Given the description of an element on the screen output the (x, y) to click on. 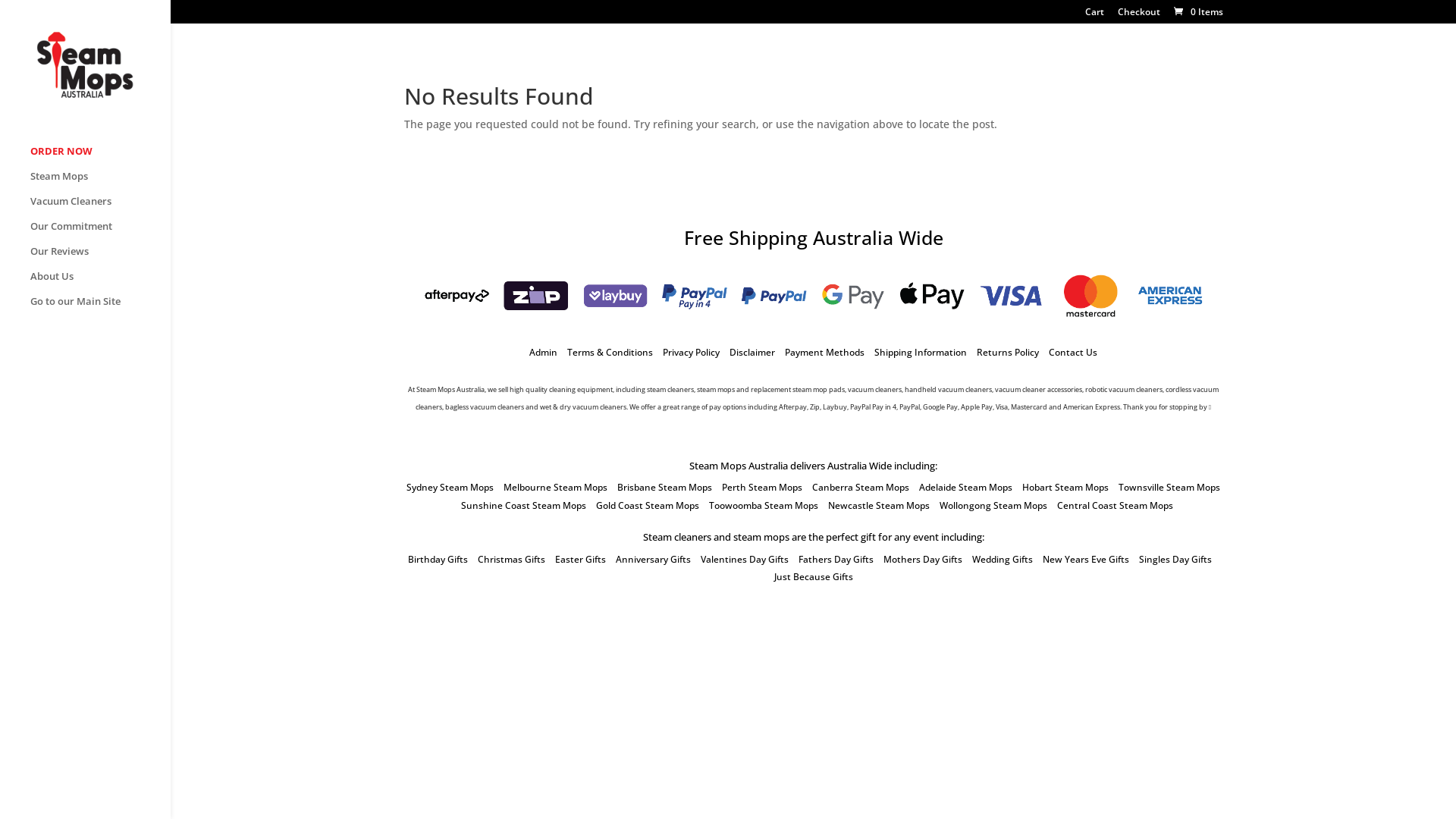
Gold Coast Steam Mops Element type: text (647, 504)
Admin Element type: text (543, 351)
Wedding Gifts Element type: text (1002, 558)
Townsville Steam Mops Element type: text (1169, 486)
Christmas Gifts Element type: text (511, 558)
Our Commitment Element type: text (100, 232)
Shipping Information Element type: text (920, 351)
Steam Mops Element type: text (100, 182)
Payment Methods Element type: text (824, 351)
Canberra Steam Mops Element type: text (860, 486)
About Us Element type: text (100, 282)
Our Reviews Element type: text (100, 257)
Birthday Gifts Element type: text (437, 558)
Wollongong Steam Mops Element type: text (993, 504)
Melbourne Steam Mops Element type: text (555, 486)
Perth Steam Mops Element type: text (761, 486)
Adelaide Steam Mops Element type: text (965, 486)
Returns Policy Element type: text (1007, 351)
Brisbane Steam Mops Element type: text (664, 486)
Sunshine Coast Steam Mops Element type: text (523, 504)
Toowoomba Steam Mops Element type: text (763, 504)
Newcastle Steam Mops Element type: text (878, 504)
Terms & Conditions Element type: text (609, 351)
Disclaimer Element type: text (752, 351)
Valentines Day Gifts Element type: text (744, 558)
Privacy Policy Element type: text (690, 351)
Anniversary Gifts Element type: text (652, 558)
Contact Us Element type: text (1072, 351)
ORDER NOW Element type: text (100, 157)
Checkout Element type: text (1138, 15)
Just Because Gifts Element type: text (812, 576)
Vacuum Cleaners Element type: text (100, 207)
0 Items Element type: text (1196, 11)
Central Coast Steam Mops Element type: text (1115, 504)
Easter Gifts Element type: text (580, 558)
Fathers Day Gifts Element type: text (834, 558)
Singles Day Gifts Element type: text (1175, 558)
Hobart Steam Mops Element type: text (1065, 486)
Cart Element type: text (1093, 15)
New Years Eve Gifts Element type: text (1084, 558)
Sydney Steam Mops Element type: text (449, 486)
Mothers Day Gifts Element type: text (921, 558)
Go to our Main Site Element type: text (100, 307)
